Given the description of an element on the screen output the (x, y) to click on. 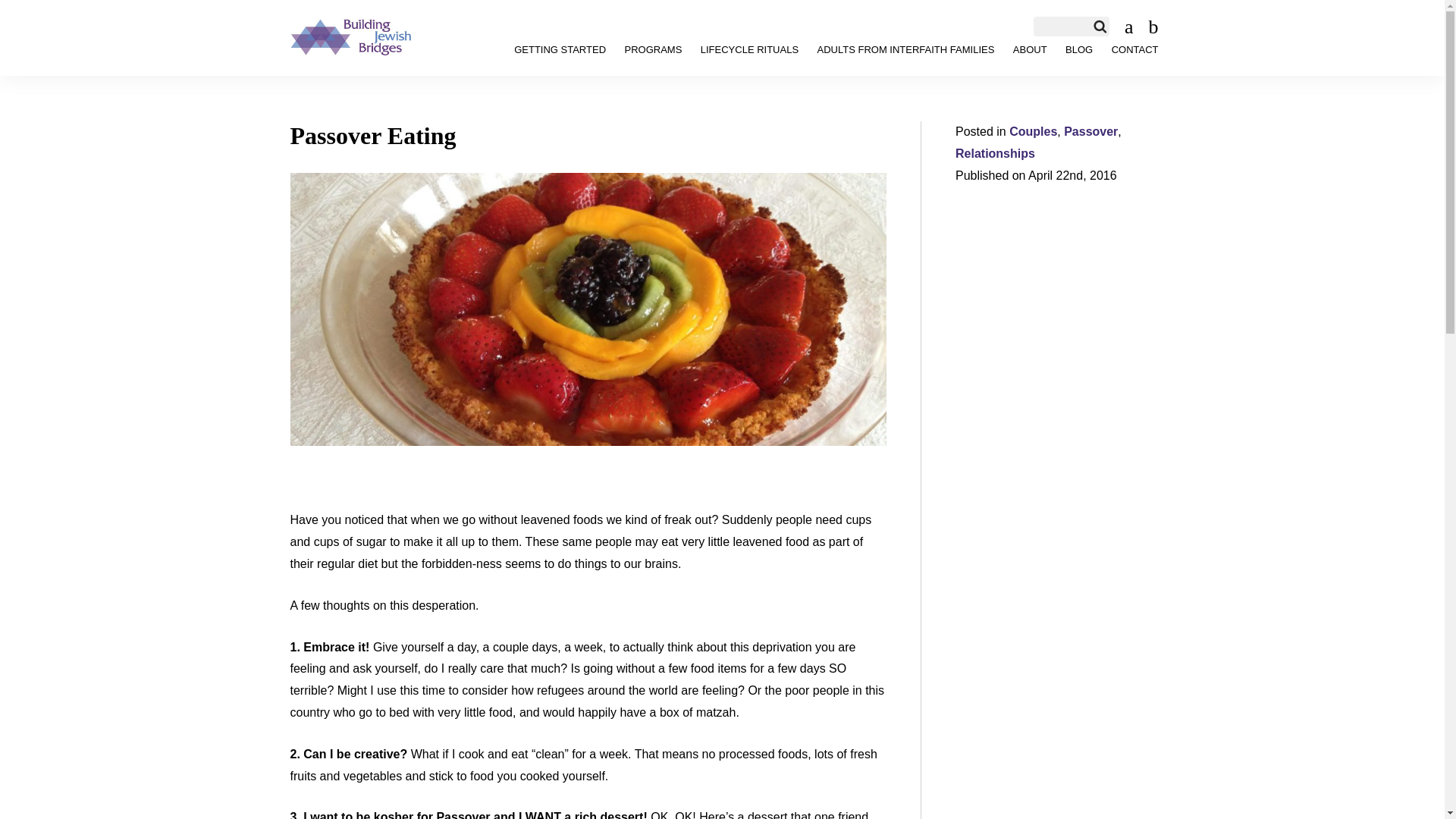
CONTACT (1135, 49)
GETTING STARTED (559, 49)
ADULTS FROM INTERFAITH FAMILIES (905, 49)
Search (19, 6)
Couples (1033, 131)
PROGRAMS (652, 49)
Relationships (995, 153)
Passover (1091, 131)
ABOUT (1029, 49)
LIFECYCLE RITUALS (748, 49)
BLOG (1079, 49)
